Given the description of an element on the screen output the (x, y) to click on. 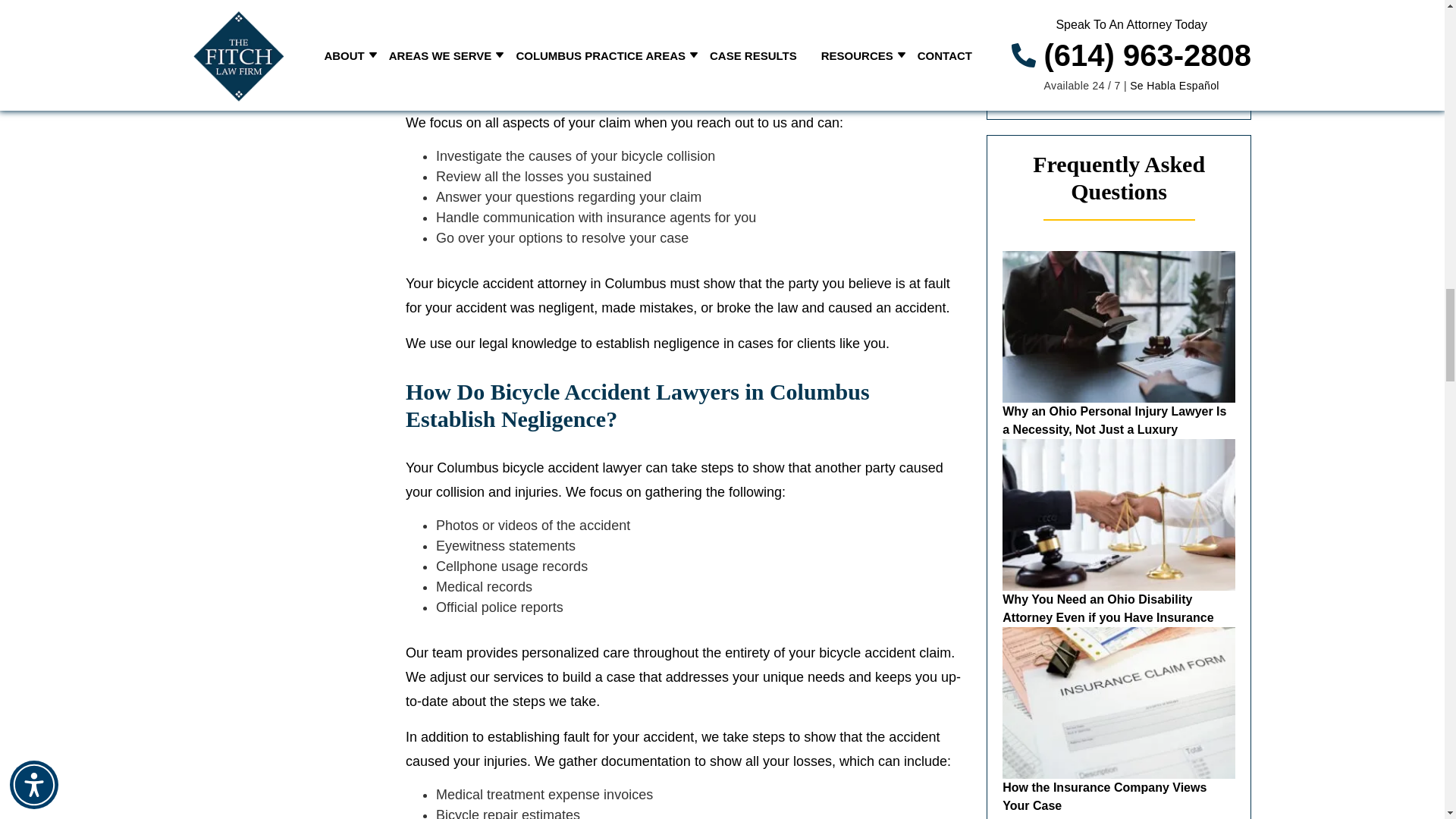
How the Insurance Company Views Your Case (1118, 702)
How the Insurance Company Views Your Case (1118, 719)
